Given the description of an element on the screen output the (x, y) to click on. 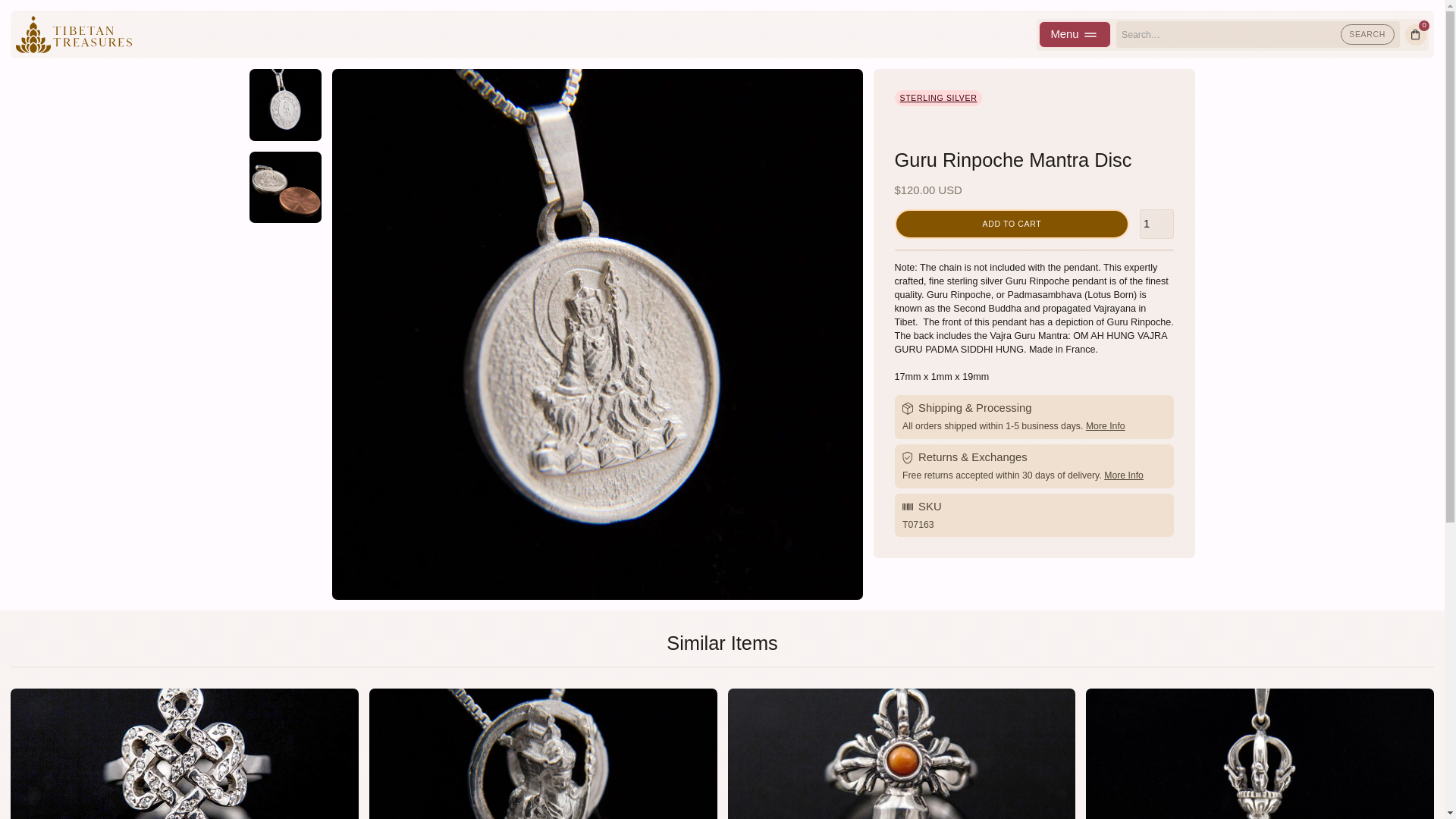
Add to Cart (1012, 224)
Search (1367, 34)
1 (1156, 224)
